Given the description of an element on the screen output the (x, y) to click on. 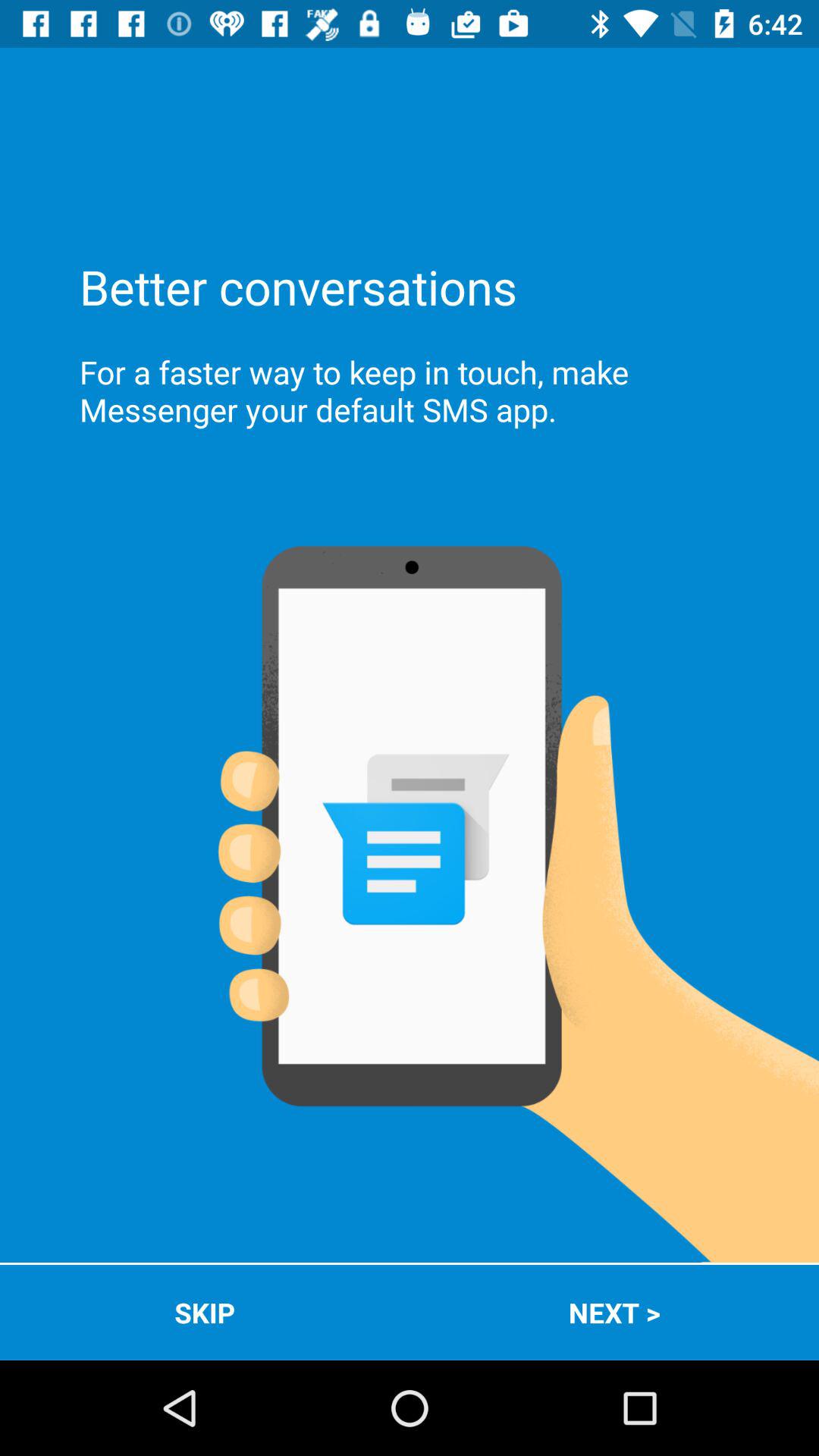
choose the icon to the right of the skip (614, 1312)
